Given the description of an element on the screen output the (x, y) to click on. 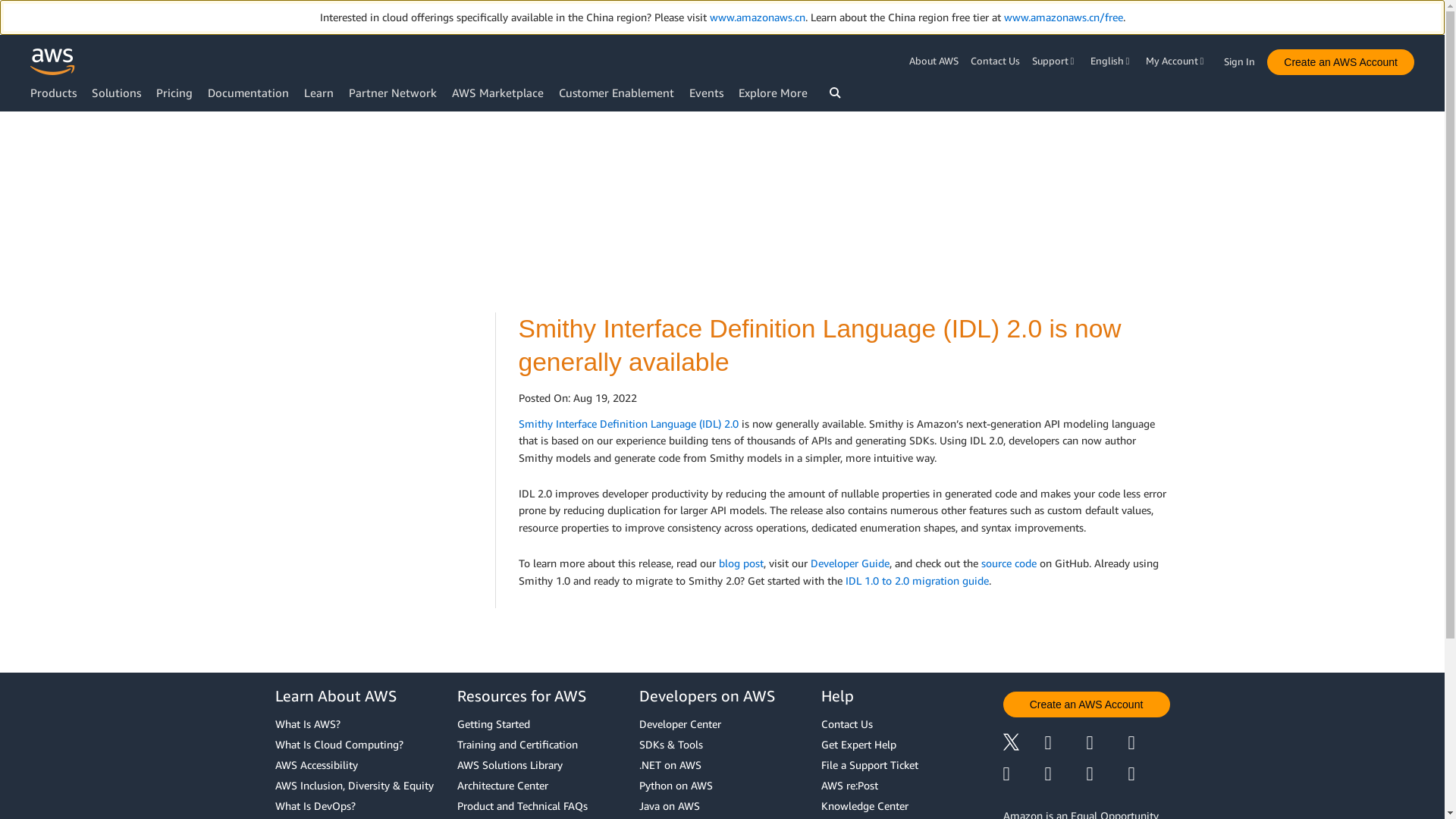
Linkedin (1106, 743)
Twitter (1023, 743)
Podcast (1106, 773)
Twitch (1023, 773)
AWS Marketplace (497, 92)
Solutions (116, 92)
My Account  (1177, 60)
Support  (1055, 60)
Facebook (1065, 743)
About AWS (935, 60)
www.amazonaws.cn (757, 16)
Pricing (173, 92)
Events (705, 92)
Instagram (1149, 743)
Contact Us (994, 60)
